Given the description of an element on the screen output the (x, y) to click on. 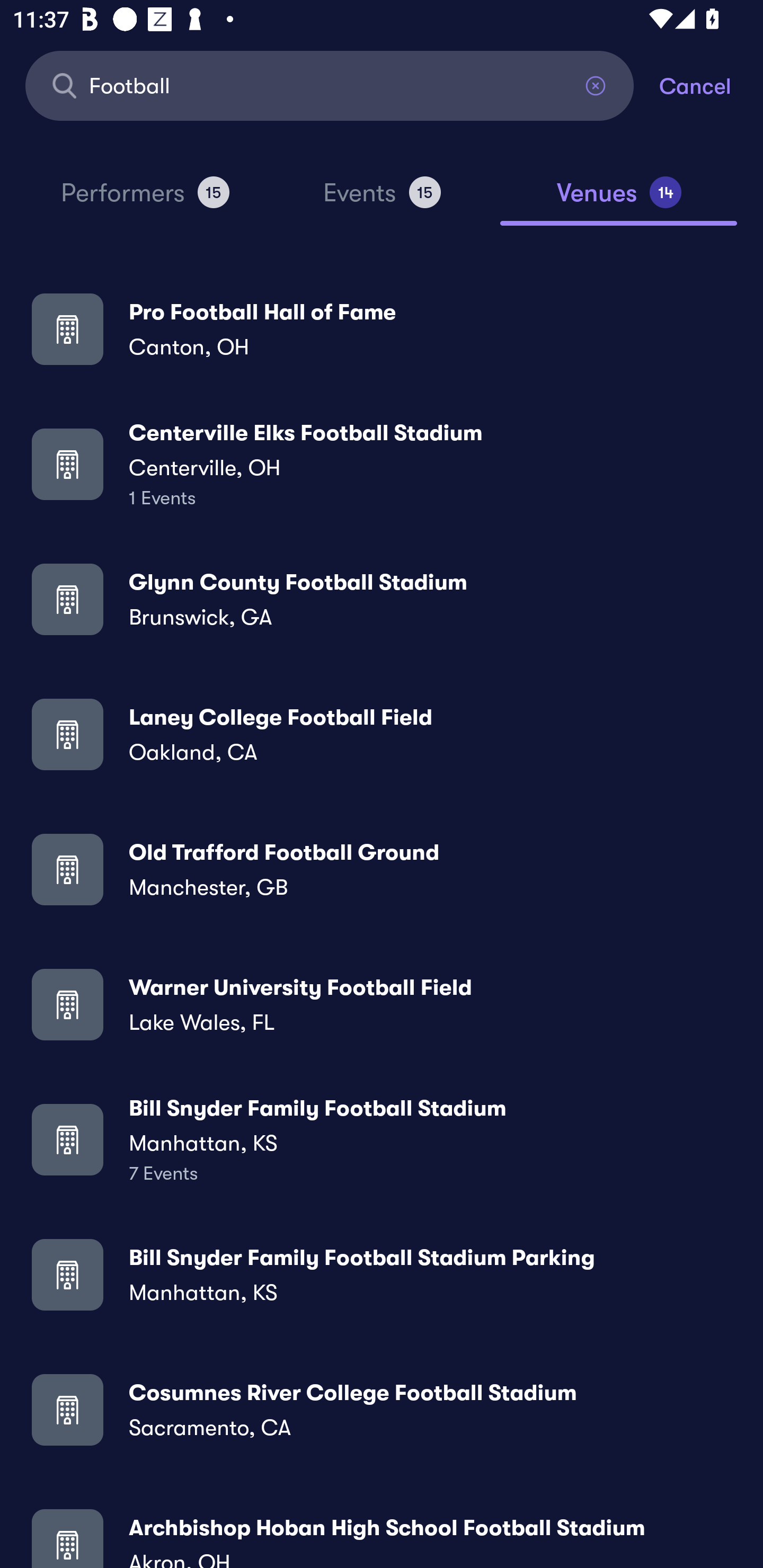
Football Find (329, 85)
Football Find (329, 85)
Cancel (711, 85)
Performers 15 (144, 200)
Events 15 (381, 200)
Venues 14 (618, 200)
Pro Football Hall of Fame Canton, OH (381, 328)
Glynn County Football Stadium Brunswick, GA (381, 598)
Laney College Football Field Oakland, CA (381, 734)
Old Trafford Football Ground Manchester, GB (381, 869)
Warner University Football Field Lake Wales, FL (381, 1004)
